Given the description of an element on the screen output the (x, y) to click on. 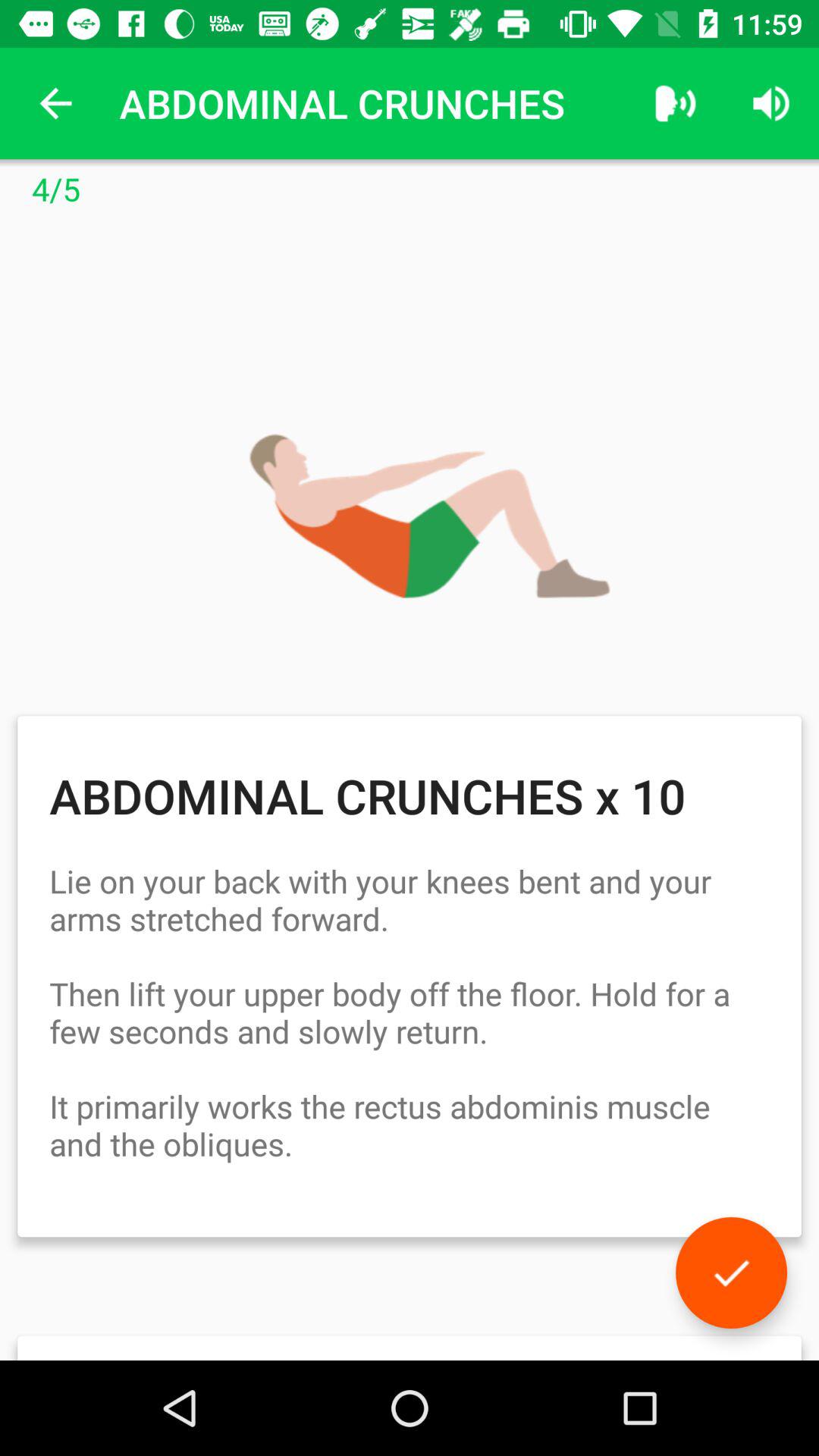
select icon next to abdominal crunches (55, 103)
